Given the description of an element on the screen output the (x, y) to click on. 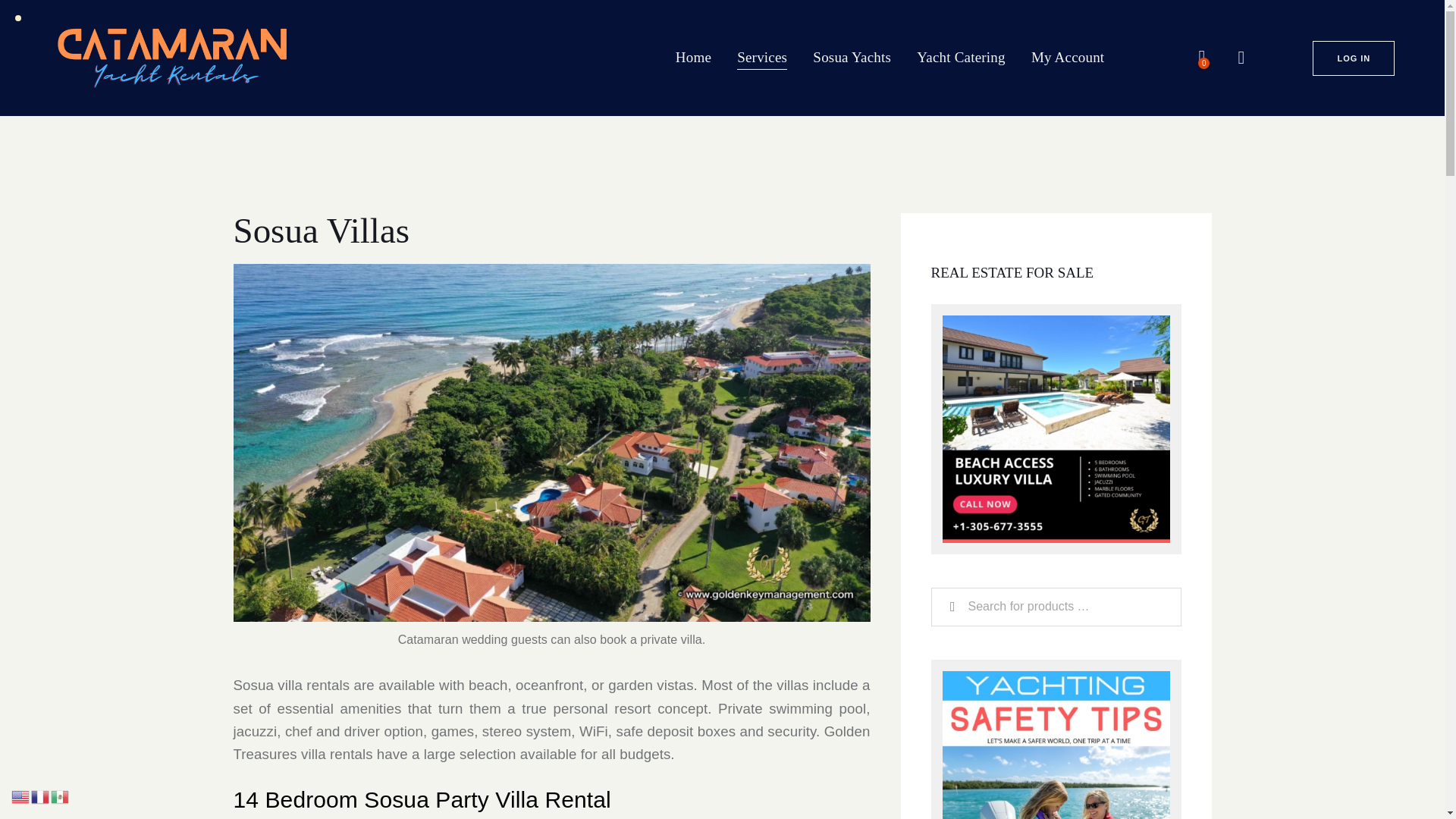
English (20, 795)
Yacht Catering (960, 58)
Sosua Yachts (851, 58)
Services (761, 58)
Home (692, 58)
My Account (1067, 58)
